Given the description of an element on the screen output the (x, y) to click on. 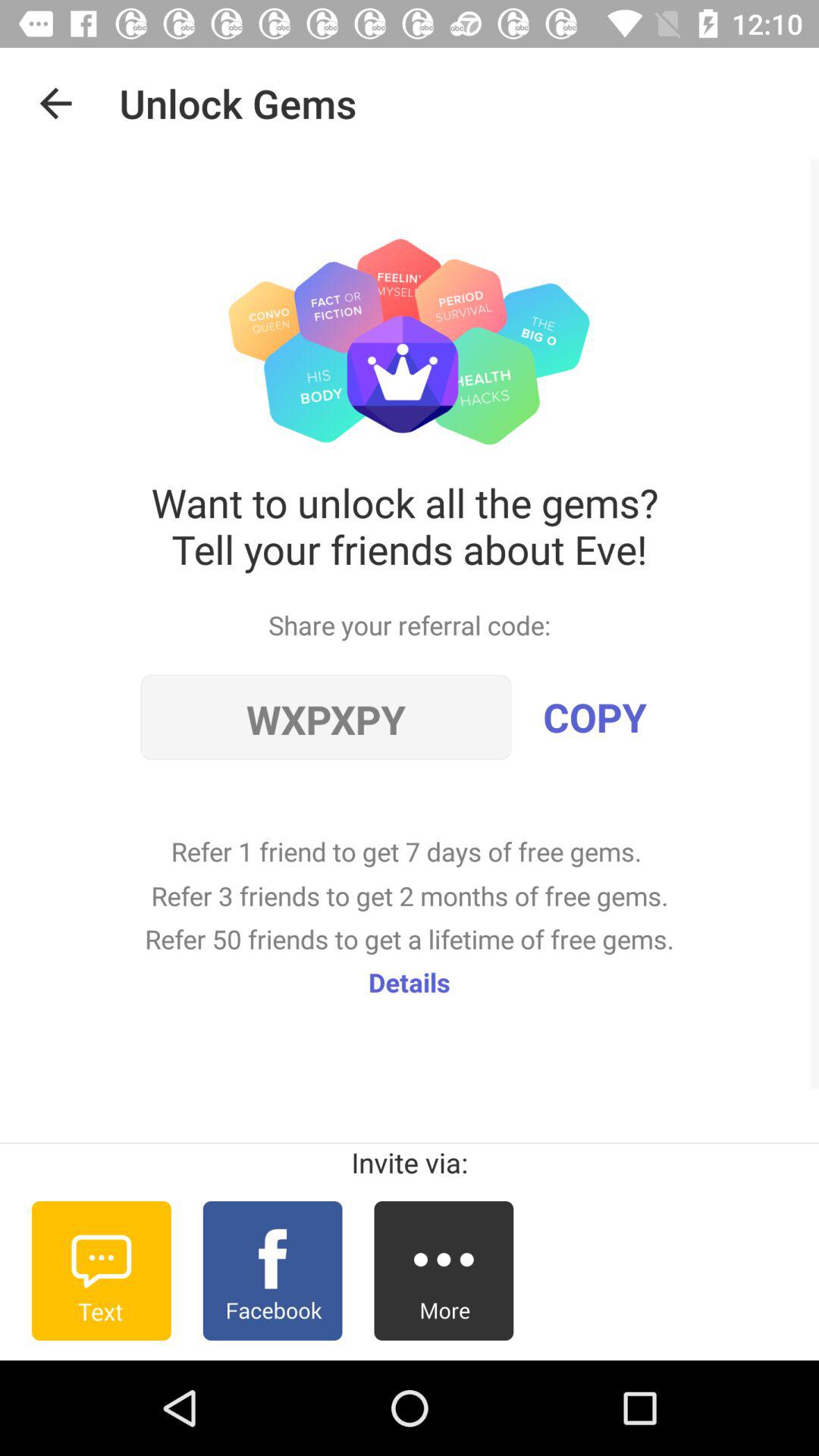
open item below the invite via: (272, 1270)
